Given the description of an element on the screen output the (x, y) to click on. 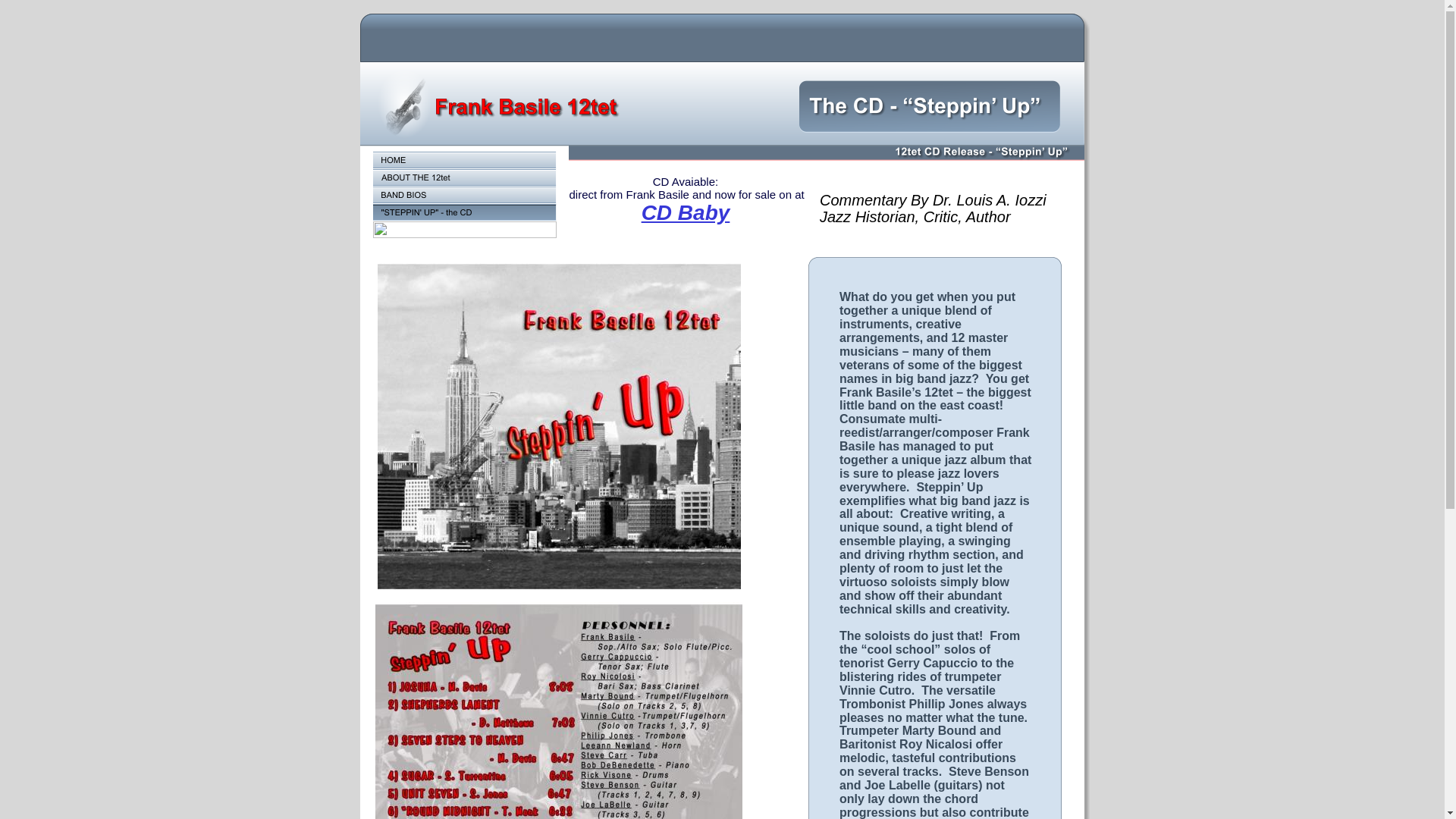
CD Baby Element type: text (685, 212)
